Given the description of an element on the screen output the (x, y) to click on. 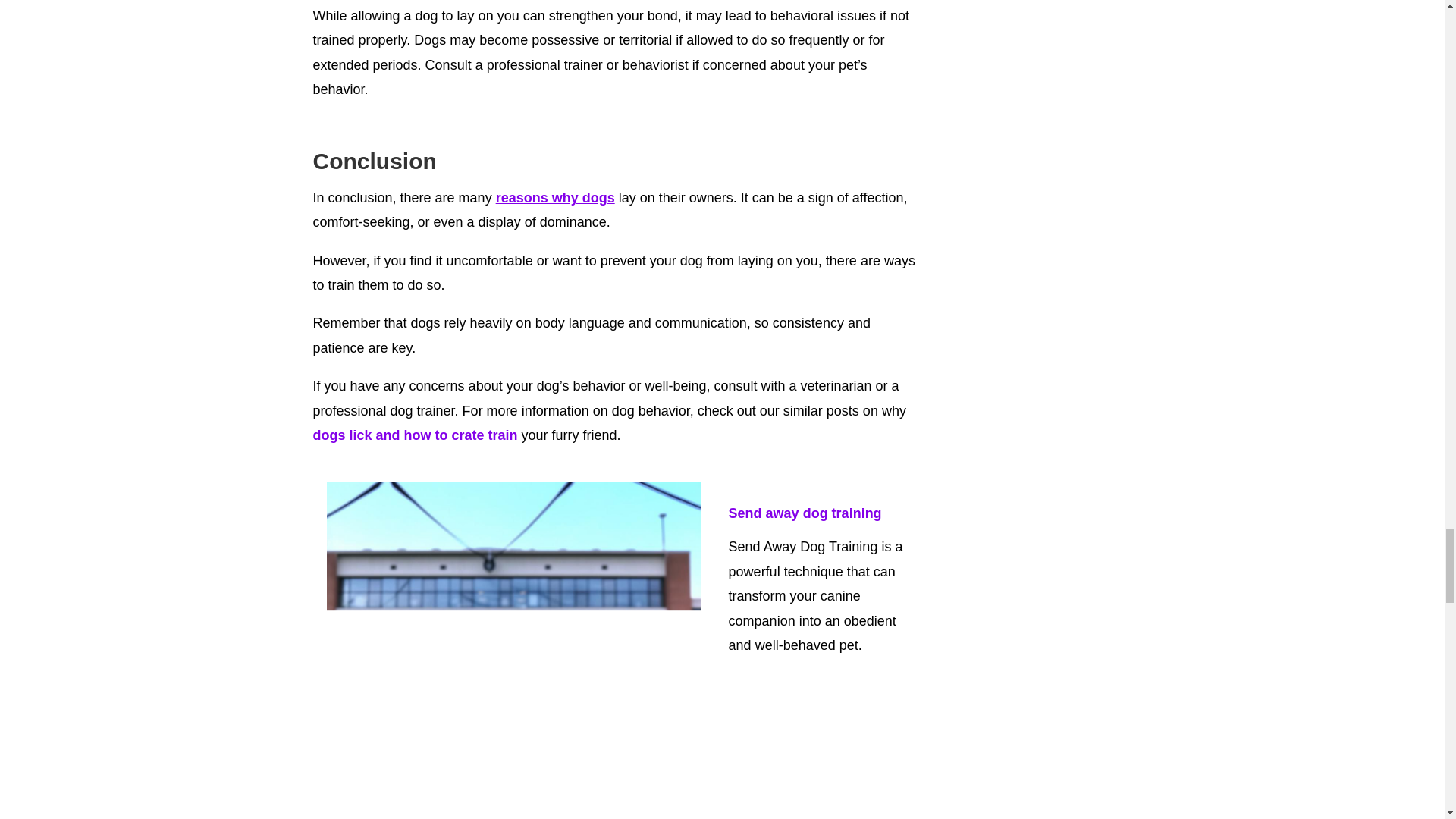
Send away dog training (805, 513)
dogs lick and how to crate train (414, 435)
reasons why dogs (555, 197)
